Given the description of an element on the screen output the (x, y) to click on. 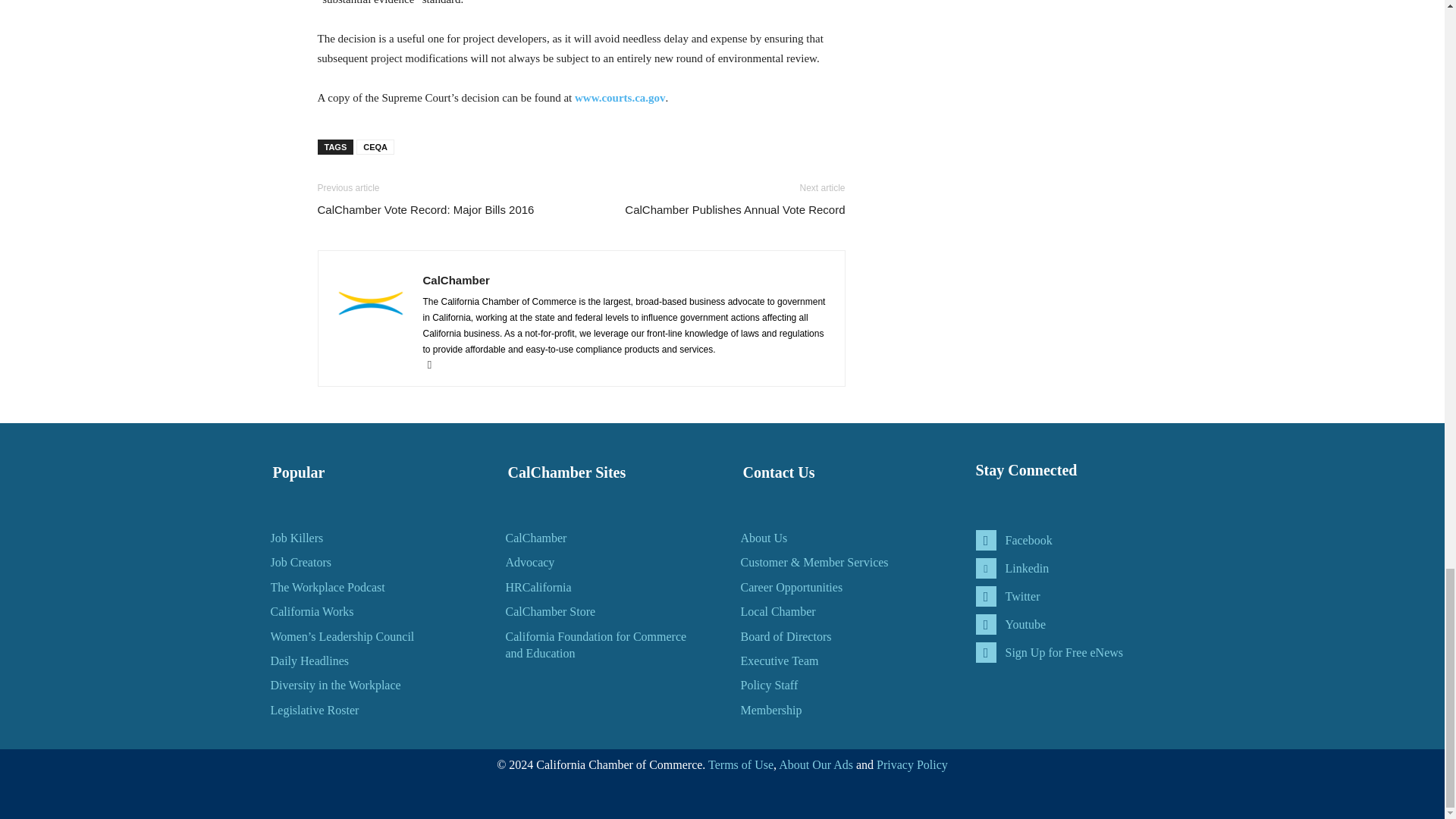
CalChamber Vote Record: Major Bills 2016 (425, 209)
www.courts.ca.gov (620, 97)
CalChamber Publishes Annual Vote Record (734, 209)
CEQA (375, 146)
CalChamber (456, 279)
